Given the description of an element on the screen output the (x, y) to click on. 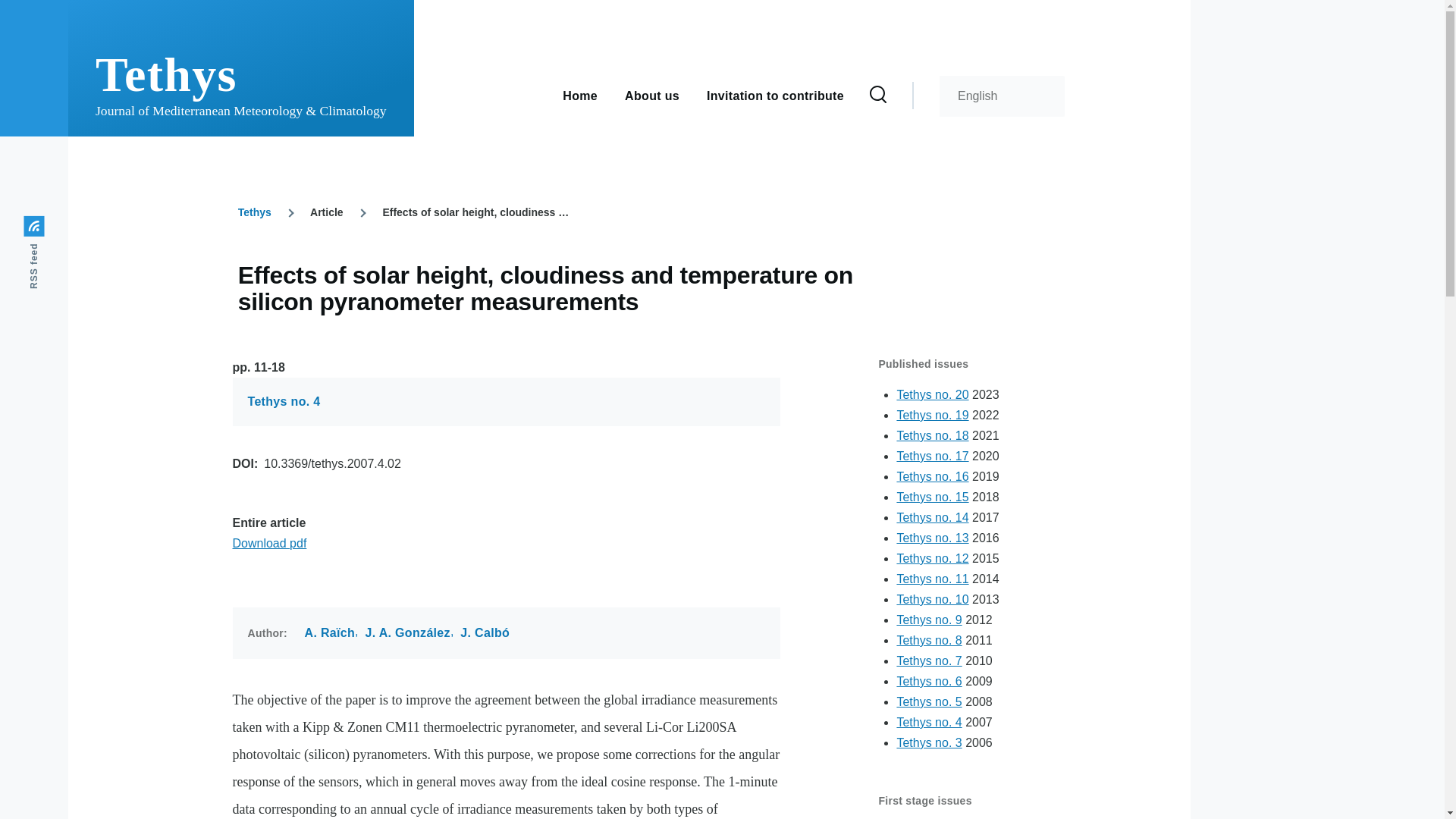
Tethys no. 4 (283, 402)
Tethys no. 19 (932, 414)
Tethys no. 14 (932, 517)
Tethys (254, 212)
Invitation to contribute (775, 94)
Tethys no. 11 (932, 578)
Tethys no. 4 (928, 721)
Tethys no. 17 (932, 455)
Tethys no. 8 (928, 640)
Tethys no. 13 (932, 537)
